Given the description of an element on the screen output the (x, y) to click on. 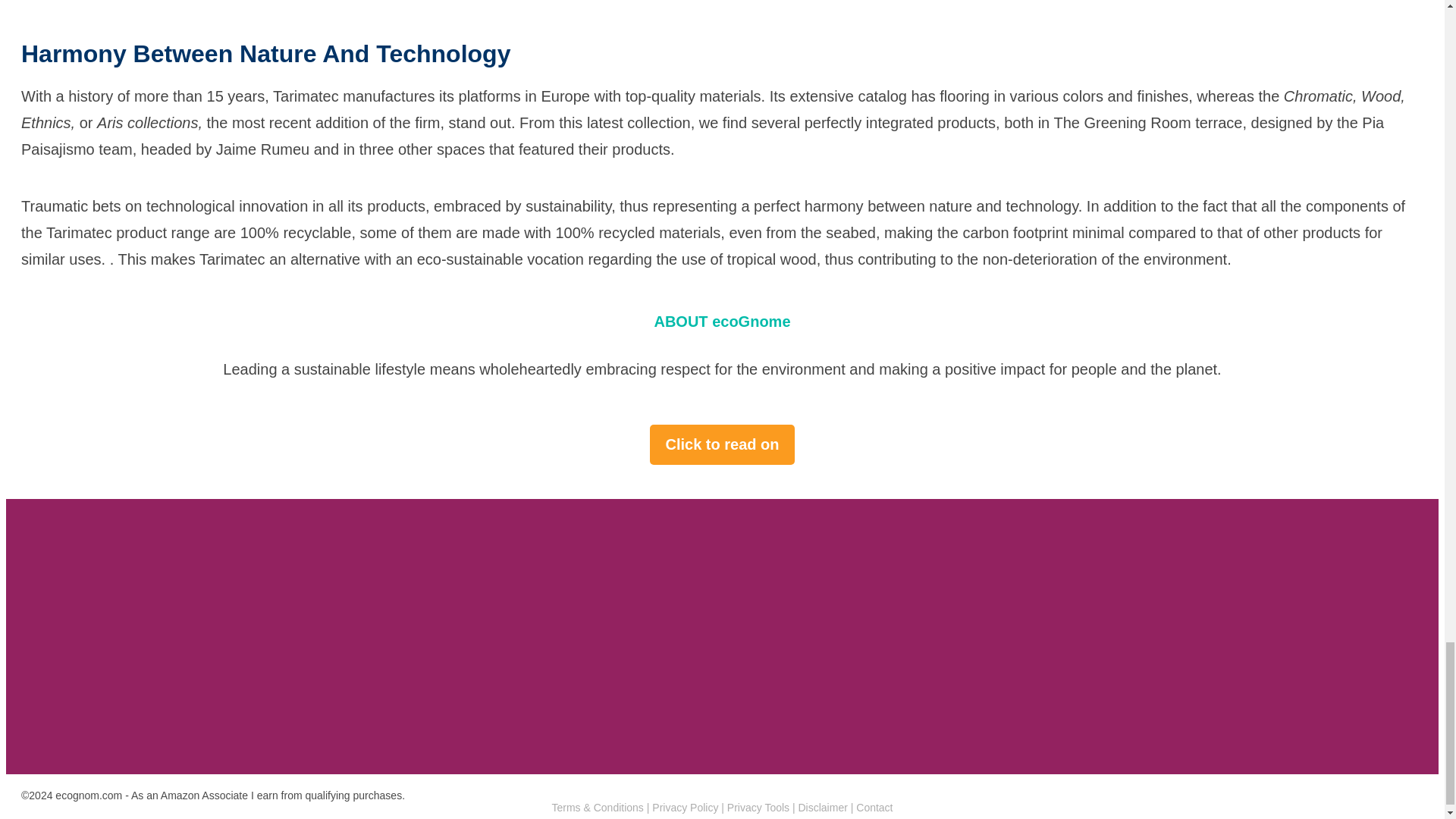
Contact (874, 807)
Privacy Tools (757, 807)
Disclaimer (822, 807)
Click to read on (721, 445)
Privacy Policy (684, 807)
